Given the description of an element on the screen output the (x, y) to click on. 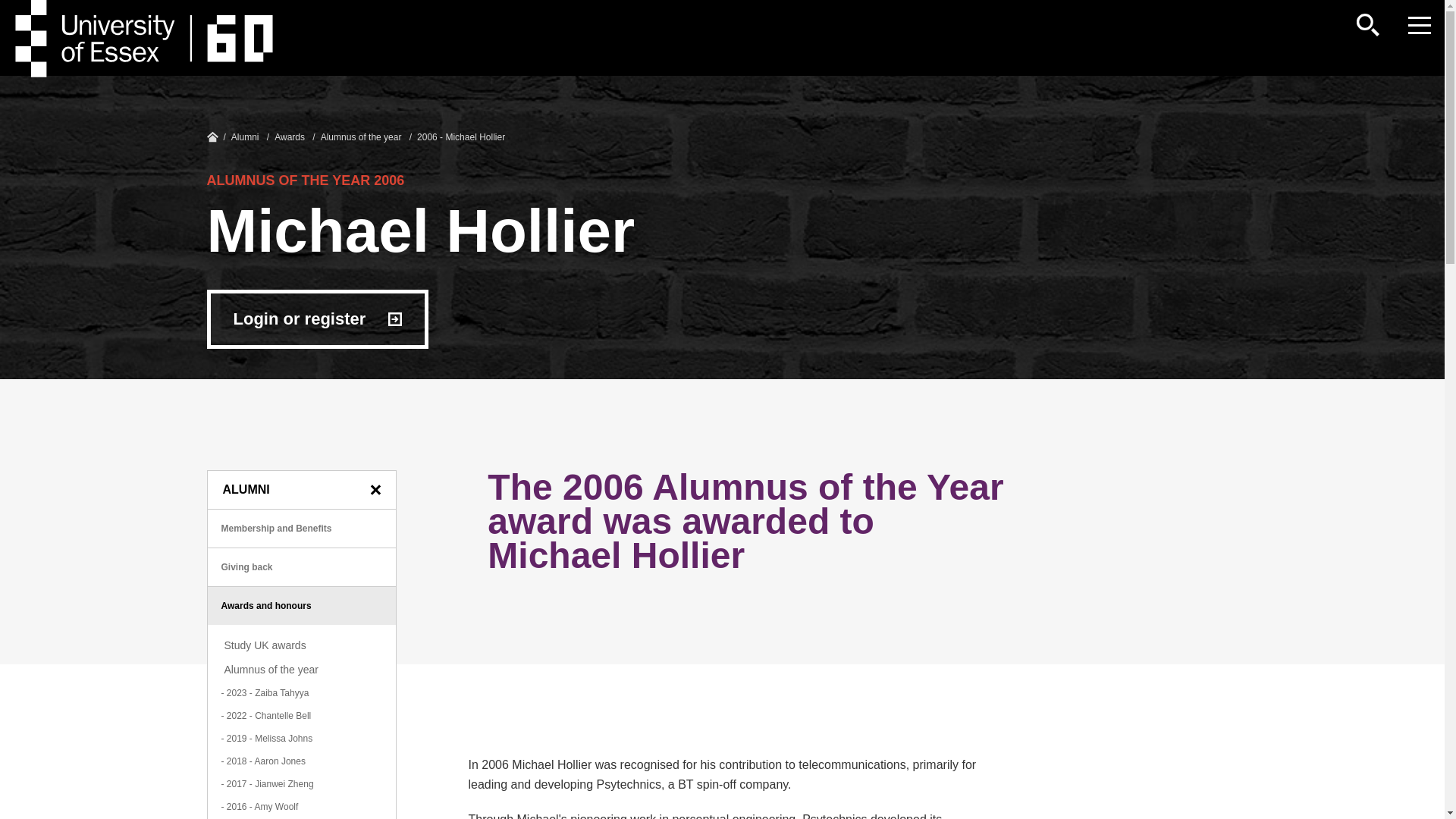
University of Essex homepage (211, 136)
